Given the description of an element on the screen output the (x, y) to click on. 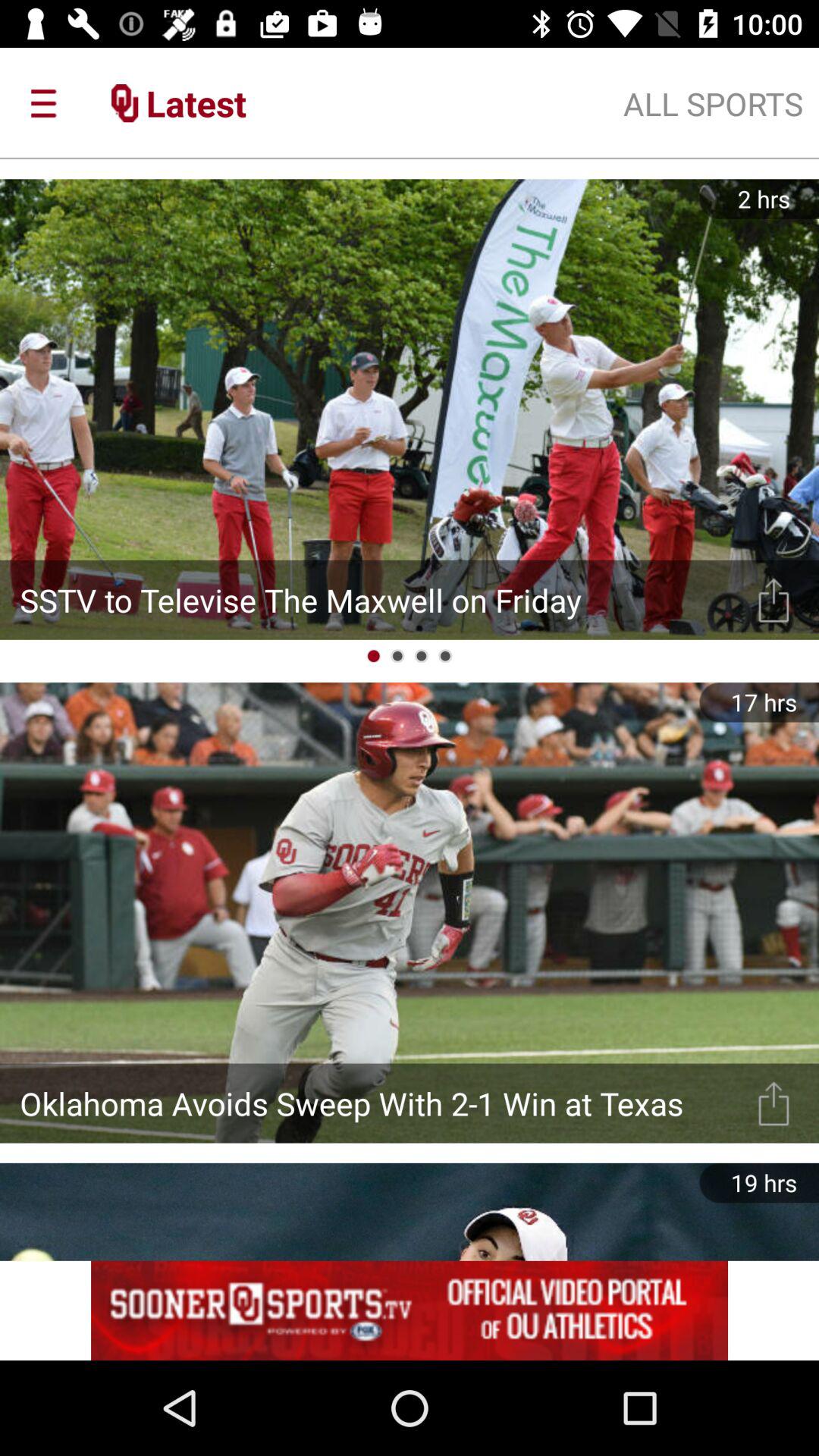
share the article (773, 1103)
